Given the description of an element on the screen output the (x, y) to click on. 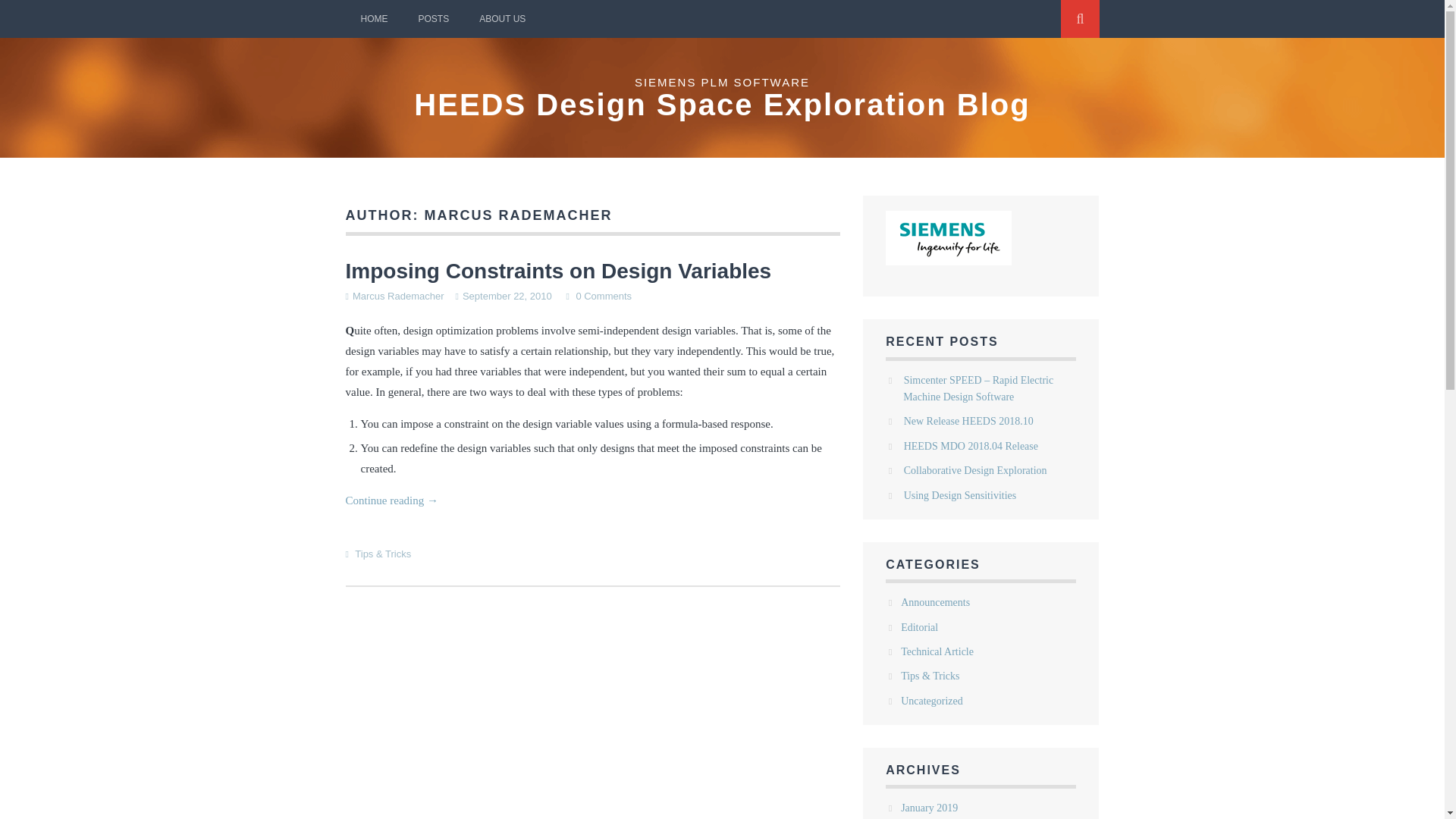
HOME (374, 18)
POSTS (433, 18)
Uncategorized (931, 700)
Imposing Constraints on Design Variables (558, 270)
September 22, 2010 (507, 296)
0 Comments (603, 296)
ABOUT US (502, 18)
HEEDS MDO 2018.04 Release (971, 446)
Marcus Rademacher (398, 296)
Technical Article (937, 651)
